Given the description of an element on the screen output the (x, y) to click on. 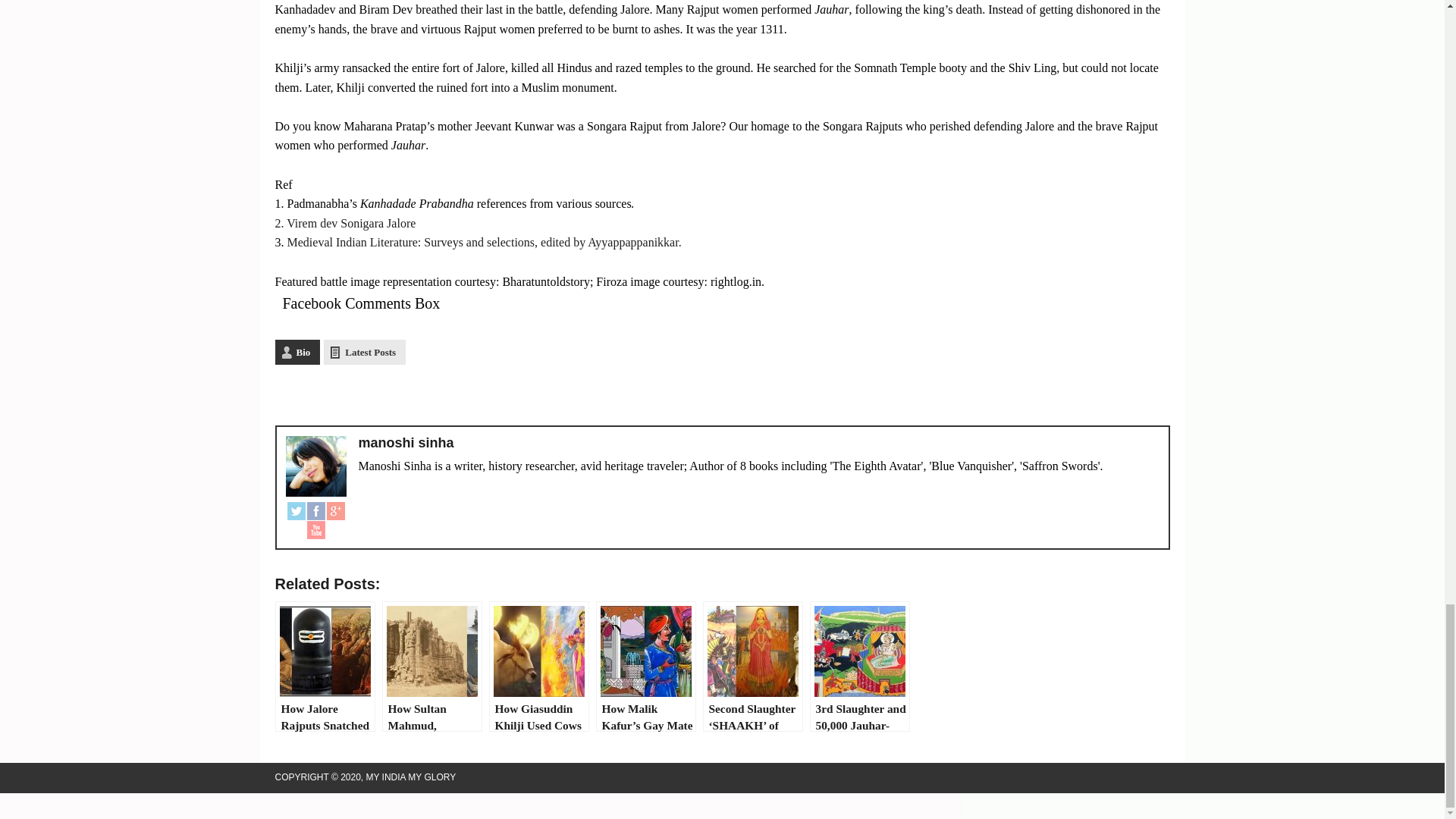
Advertisement (722, 394)
Twitter (295, 510)
Facebook (314, 510)
